Given the description of an element on the screen output the (x, y) to click on. 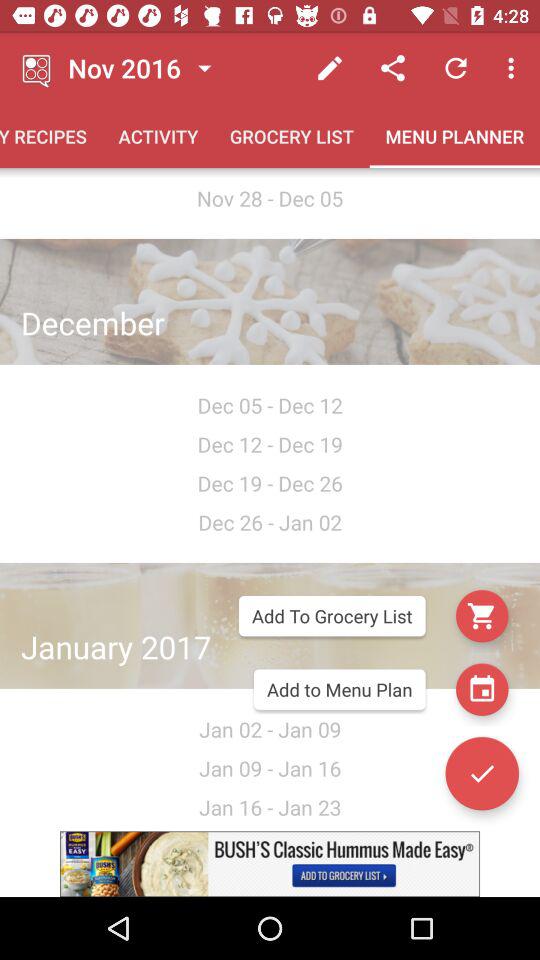
view shopping cart (482, 615)
